Given the description of an element on the screen output the (x, y) to click on. 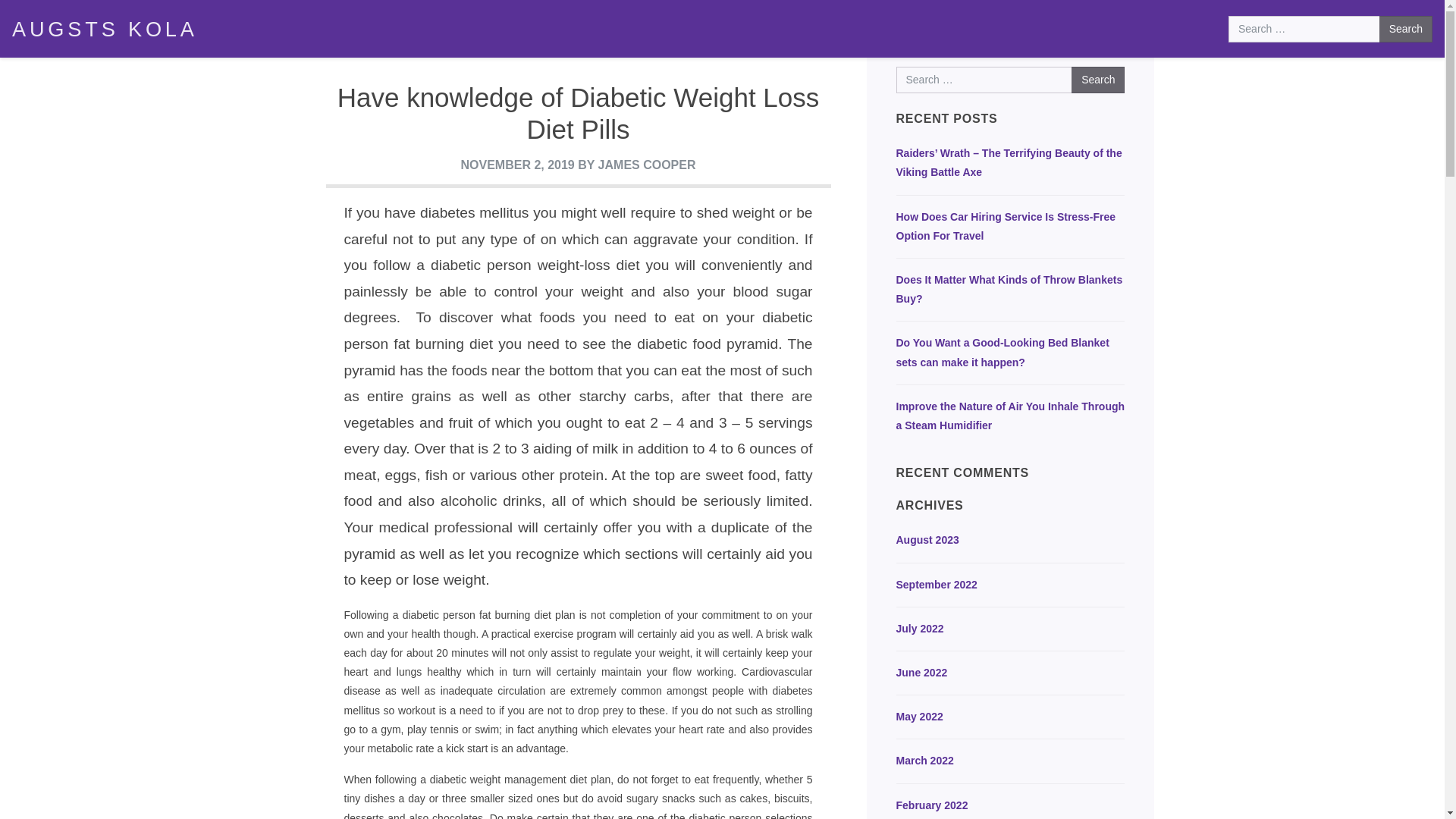
How Does Car Hiring Service Is Stress-Free Option For Travel (1010, 226)
June 2022 (1010, 672)
March 2022 (1010, 760)
Search (1405, 28)
Search (1097, 79)
Search (1097, 79)
February 2022 (1010, 805)
Search (1405, 28)
May 2022 (1010, 716)
Search (1405, 28)
Does It Matter What Kinds of Throw Blankets Buy? (1010, 289)
AUGSTS KOLA (104, 28)
September 2022 (1010, 584)
